Given the description of an element on the screen output the (x, y) to click on. 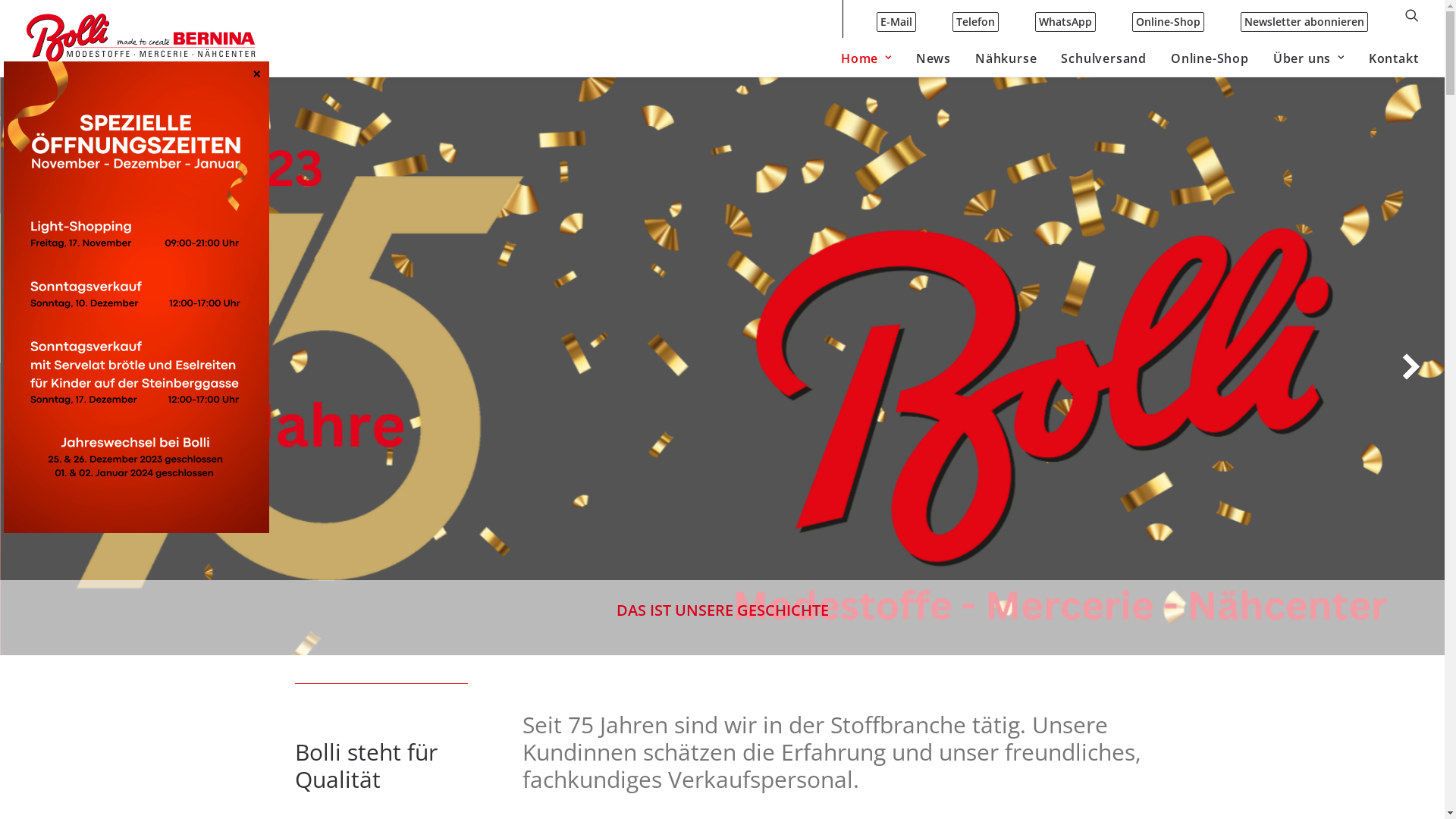
Online-Shop Element type: text (1167, 18)
Online-Shop Element type: text (1209, 57)
Home Element type: text (866, 57)
Absenden Element type: text (59, 18)
E-Mail Element type: text (901, 18)
News Element type: text (933, 57)
